Given the description of an element on the screen output the (x, y) to click on. 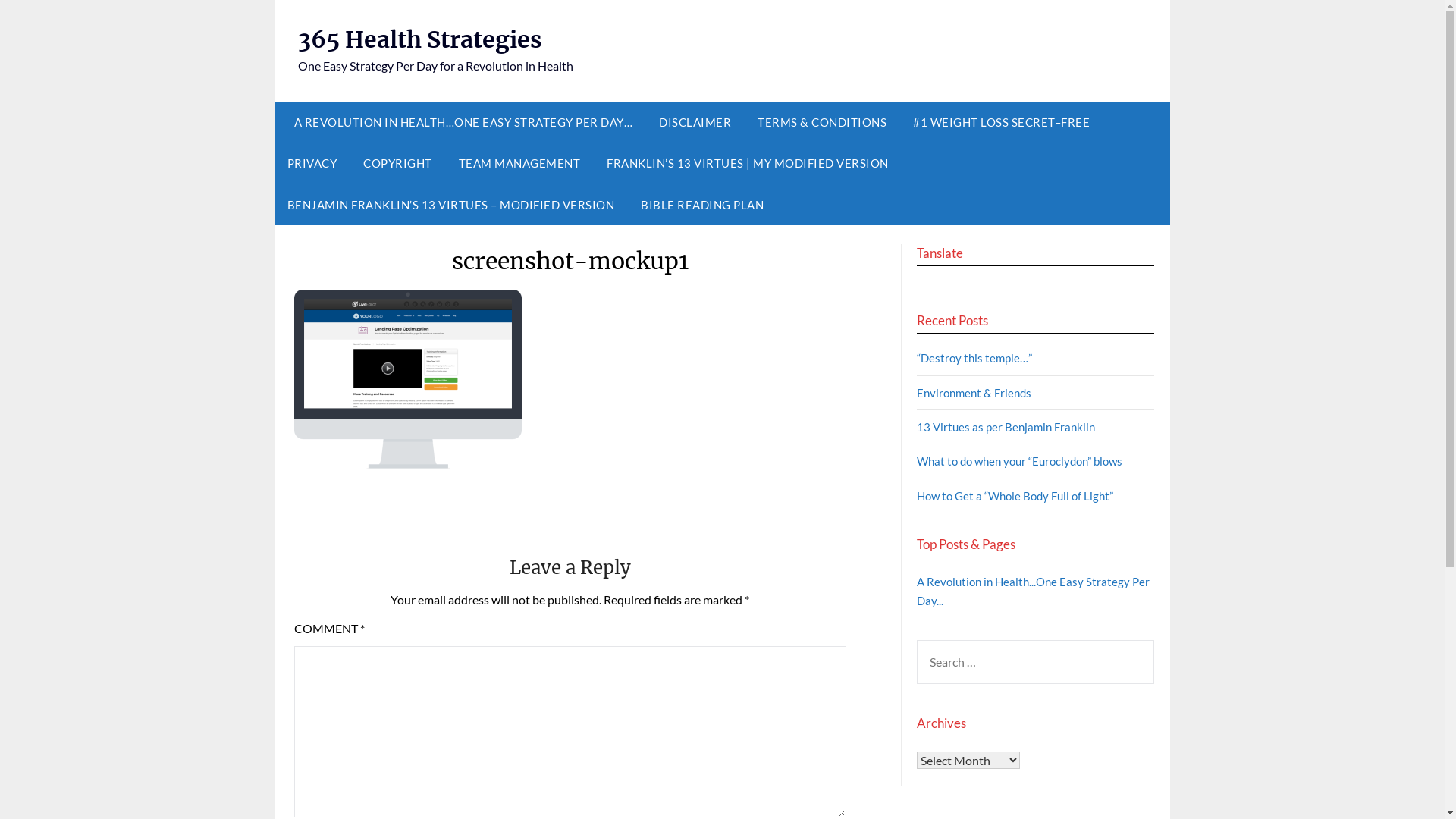
PRIVACY Element type: text (311, 162)
Search Element type: text (38, 21)
365 Health Strategies Element type: text (419, 39)
TEAM MANAGEMENT Element type: text (518, 162)
BIBLE READING PLAN Element type: text (701, 204)
13 Virtues as per Benjamin Franklin Element type: text (1005, 426)
TERMS & CONDITIONS Element type: text (821, 121)
DISCLAIMER Element type: text (694, 121)
Environment & Friends Element type: text (973, 392)
A Revolution in Health...One Easy Strategy Per Day... Element type: text (1032, 590)
COPYRIGHT Element type: text (397, 162)
